Given the description of an element on the screen output the (x, y) to click on. 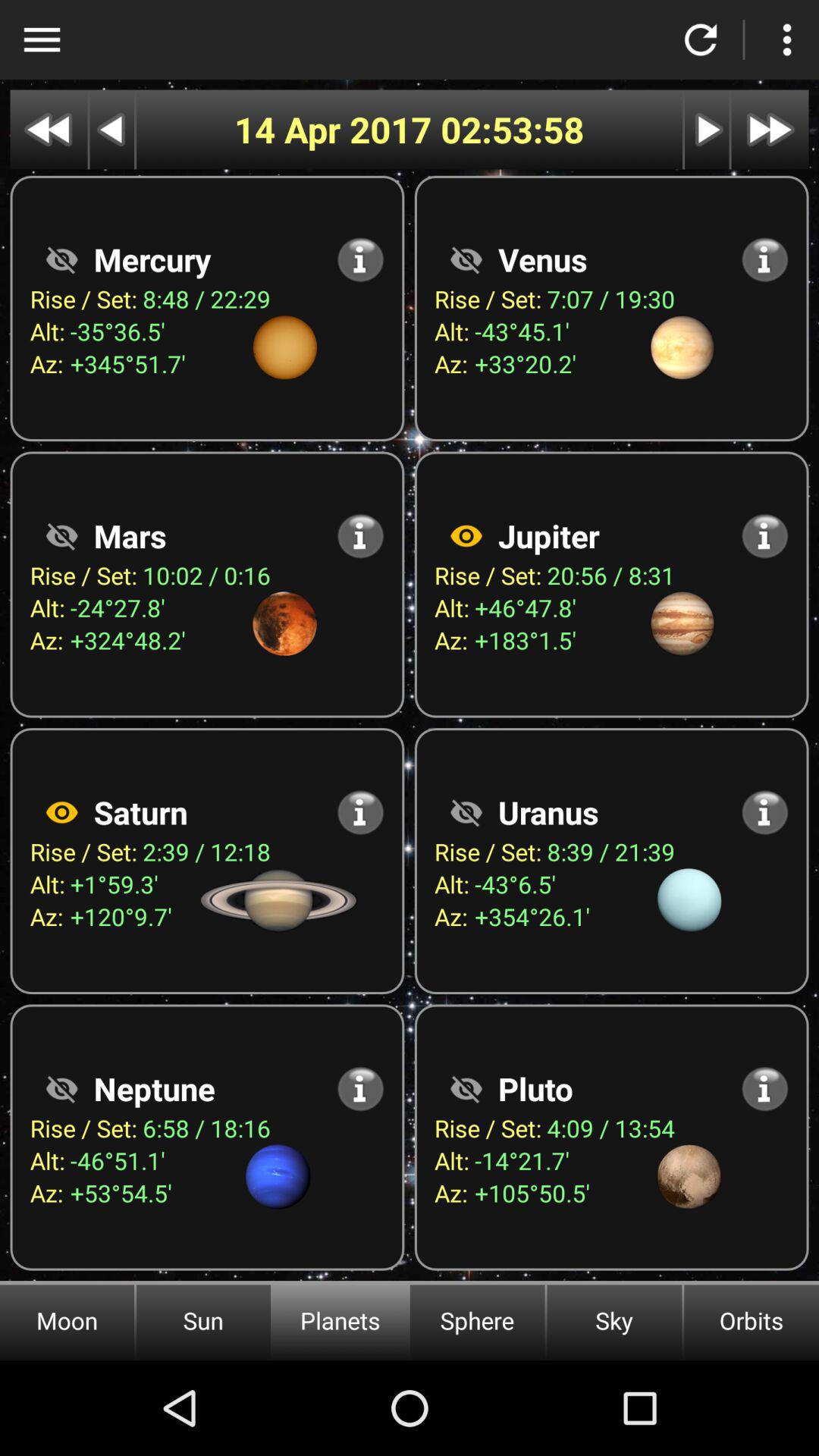
display information (360, 812)
